Given the description of an element on the screen output the (x, y) to click on. 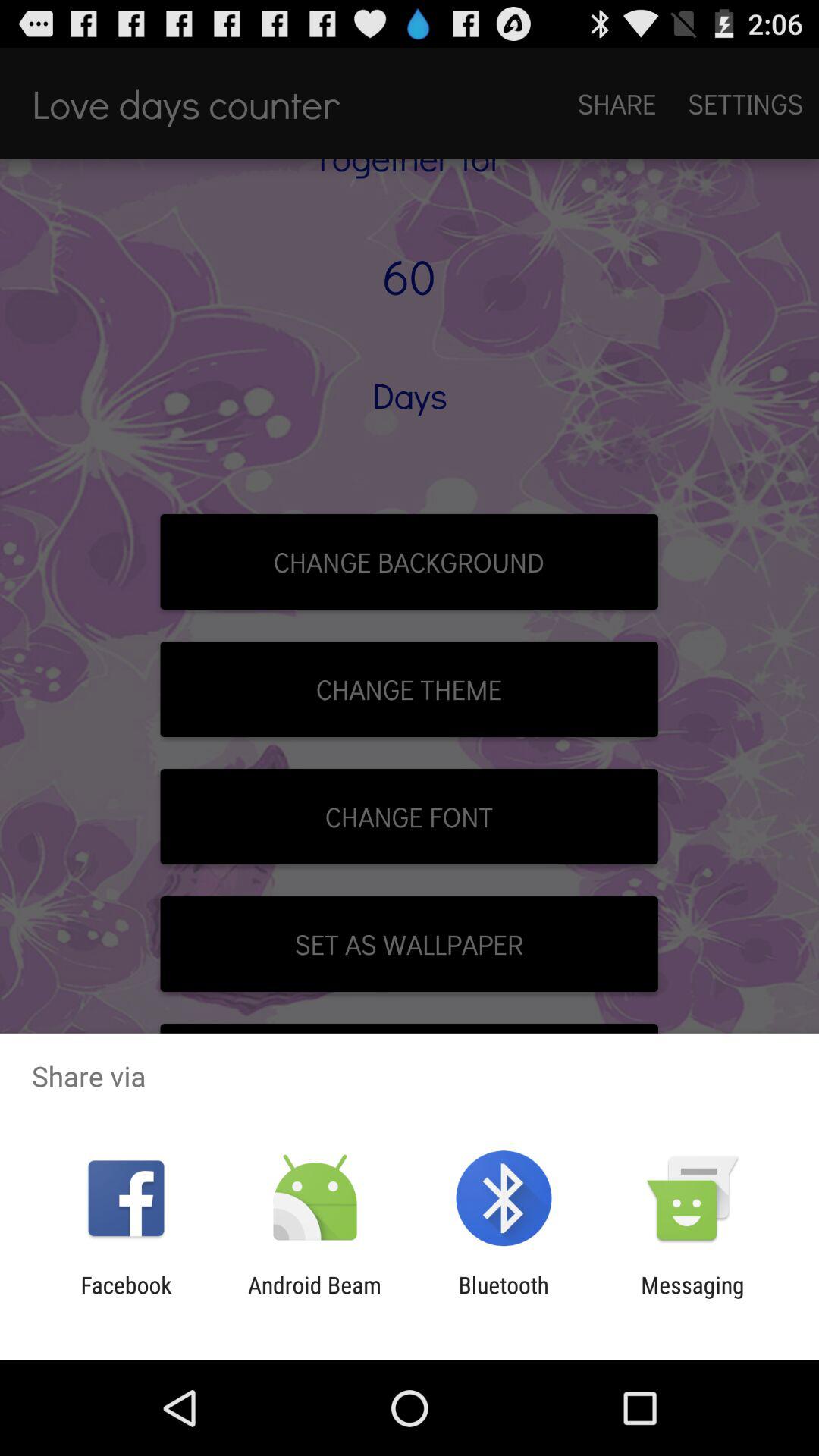
turn off the item next to the bluetooth app (314, 1298)
